Given the description of an element on the screen output the (x, y) to click on. 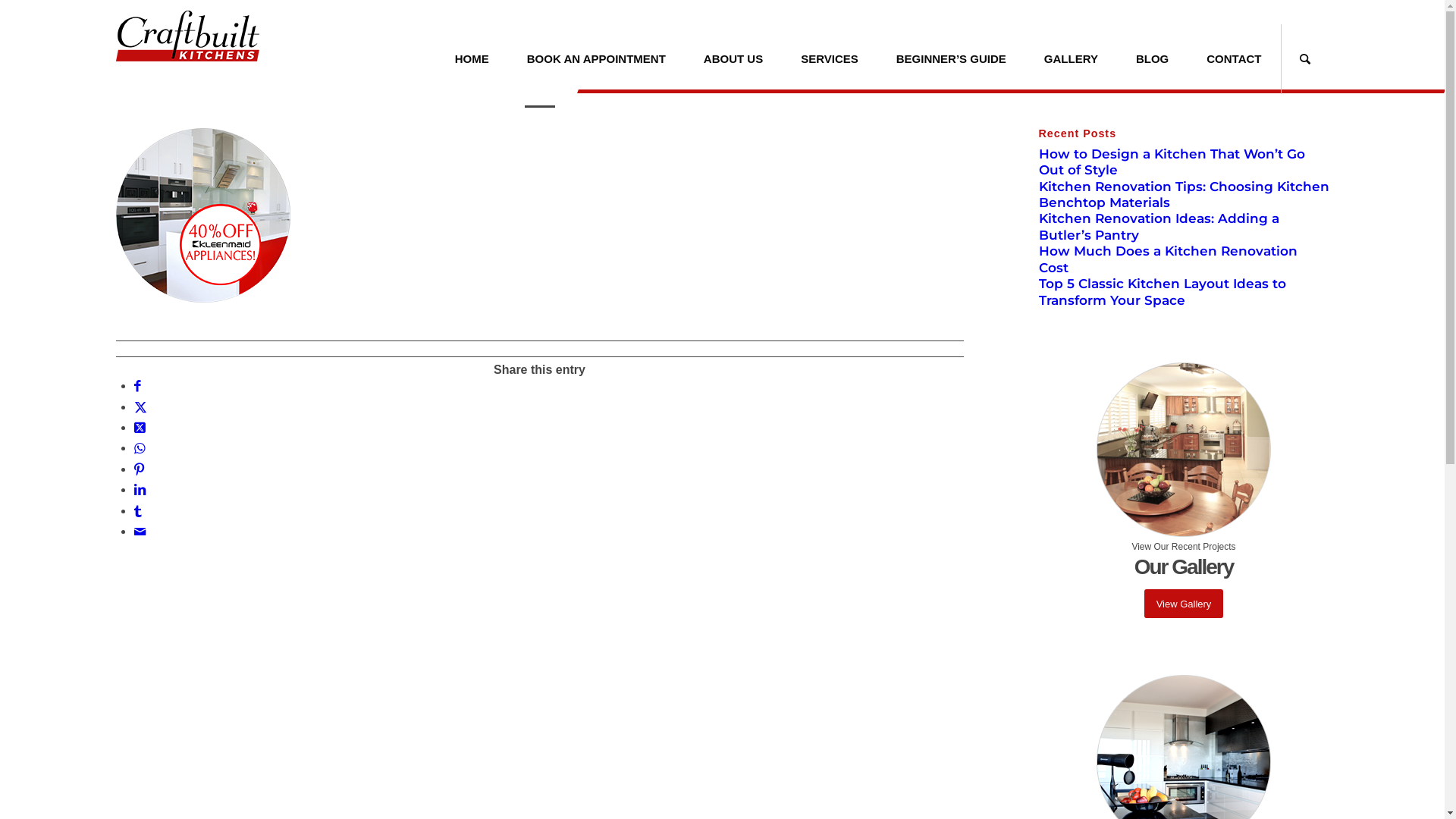
How Much Does a Kitchen Renovation Cost Element type: text (1167, 258)
CONTACT Element type: text (1233, 59)
HOME Element type: text (471, 59)
View Gallery Element type: text (1183, 603)
Top 5 Classic Kitchen Layout Ideas to Transform Your Space Element type: text (1162, 291)
SERVICES Element type: text (829, 59)
BOOK AN APPOINTMENT Element type: text (596, 59)
logo Element type: hover (186, 44)
logo Element type: hover (186, 35)
BLOG Element type: text (1152, 59)
Kitchen Renovation Tips: Choosing Kitchen Benchtop Materials Element type: text (1183, 194)
ABOUT US Element type: text (732, 59)
GALLERY Element type: text (1070, 59)
